Given the description of an element on the screen output the (x, y) to click on. 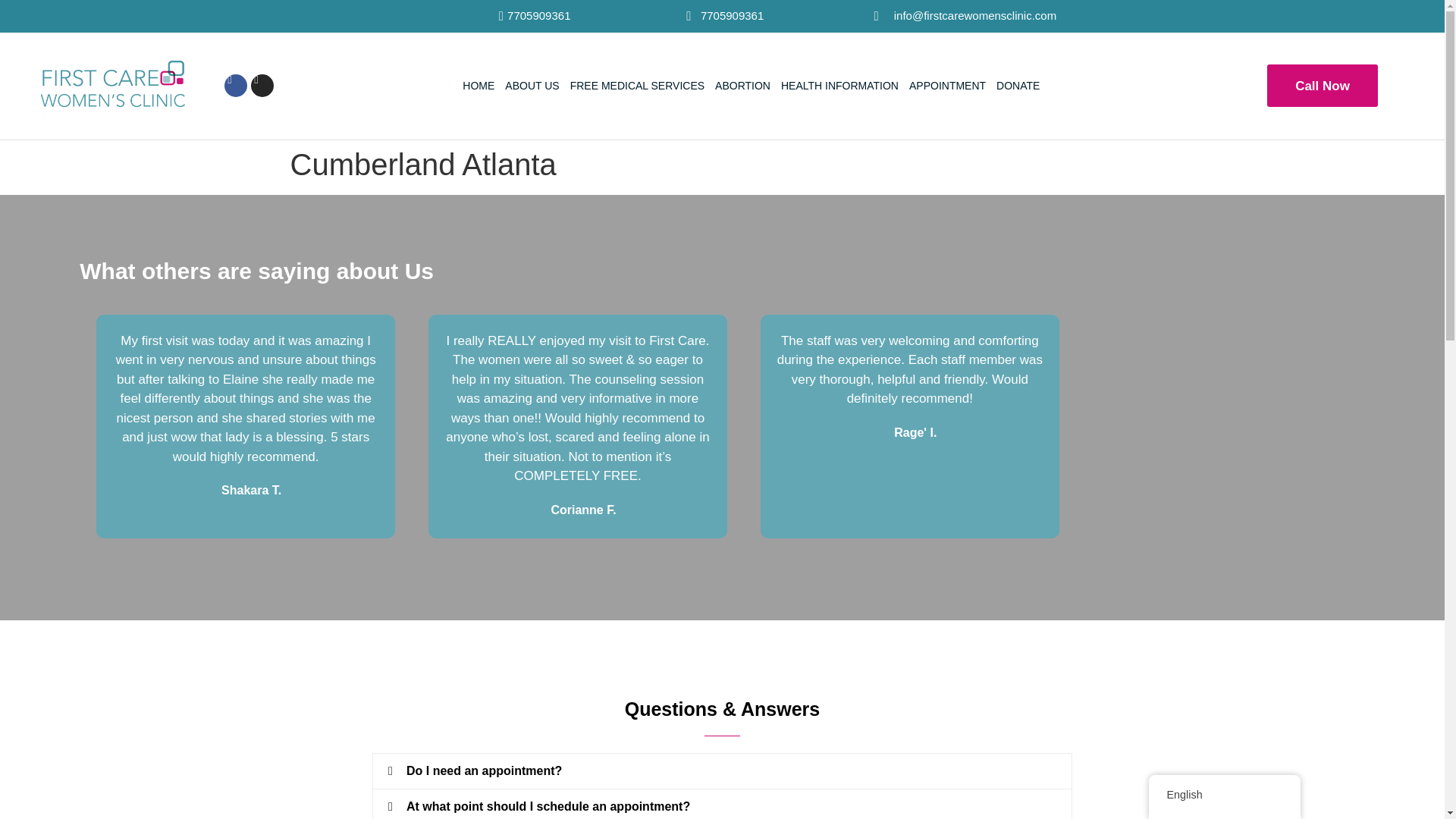
7705909361 (433, 16)
FREE MEDICAL SERVICES (637, 85)
HEALTH INFORMATION (839, 85)
DONATE (1017, 85)
ABORTION (742, 85)
7705909361 (722, 16)
Call Now (1321, 85)
APPOINTMENT (947, 85)
ABOUT US (531, 85)
HOME (478, 85)
